Given the description of an element on the screen output the (x, y) to click on. 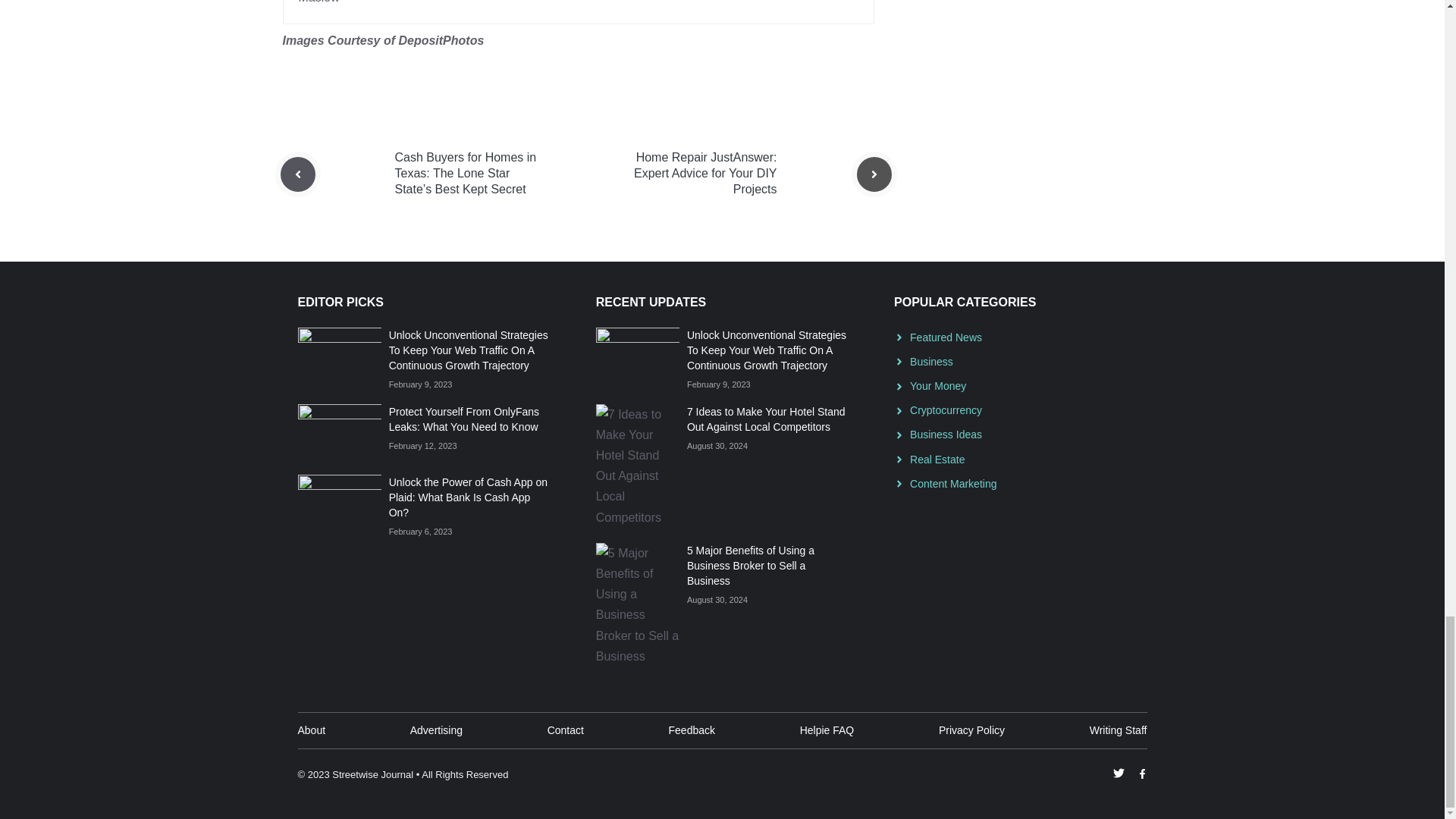
DepositPhotos (440, 40)
Home Repair JustAnswer: Expert Advice for Your DIY Projects (705, 172)
Protect Yourself From OnlyFans Leaks: What You Need to Know (463, 419)
